Given the description of an element on the screen output the (x, y) to click on. 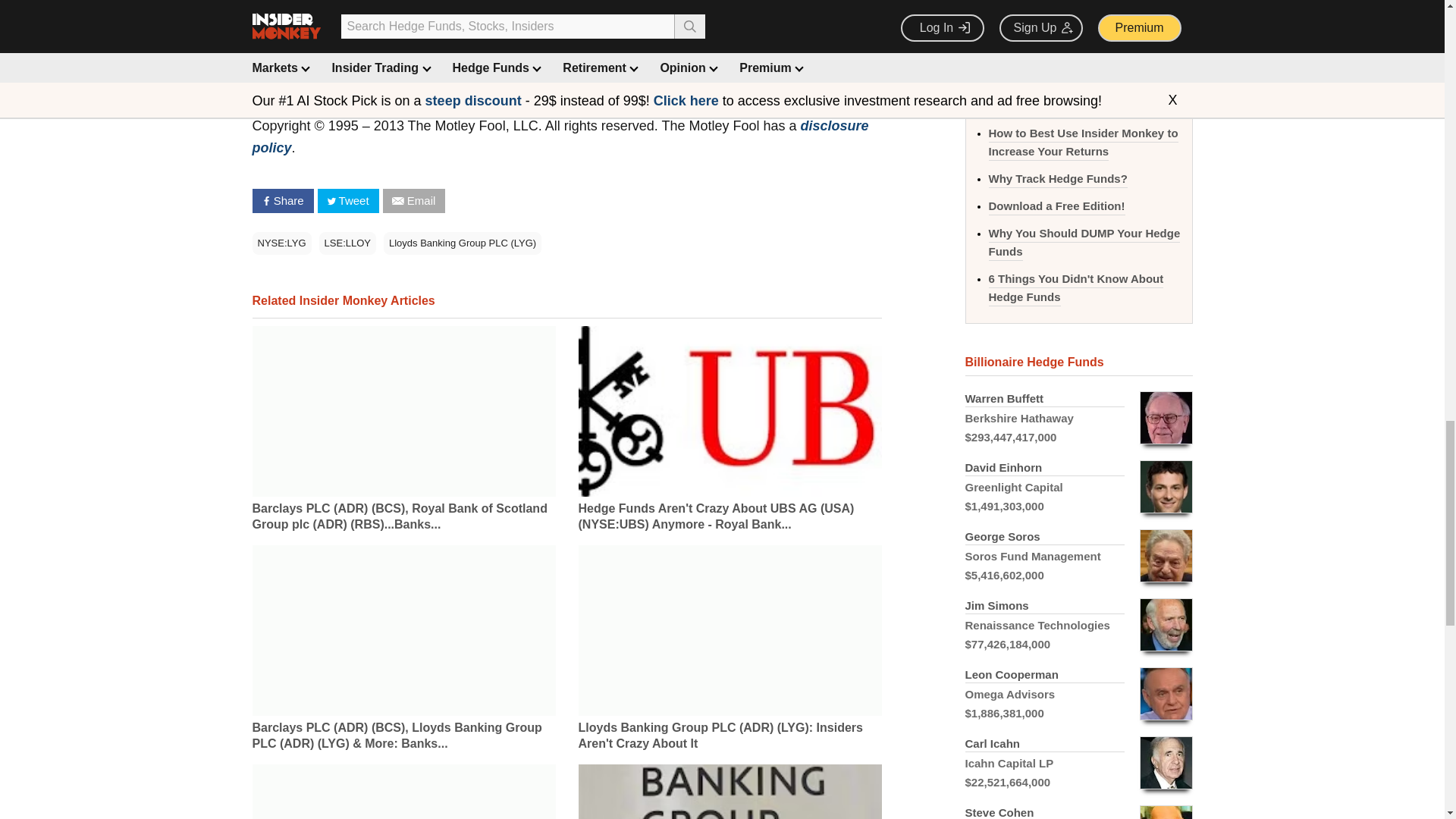
Click to see details for Icahn Capital LP (1077, 762)
Click to see details for Renaissance Technologies (1077, 625)
Click to see details for Greenlight Capital (1077, 486)
Click to see details for Omega Advisors (1077, 694)
Click to see details for Berkshire Hathaway (1077, 418)
Click to see details for Soros Fund Management (1077, 555)
Click to see details for Point72 Asset Management (1077, 808)
